Given the description of an element on the screen output the (x, y) to click on. 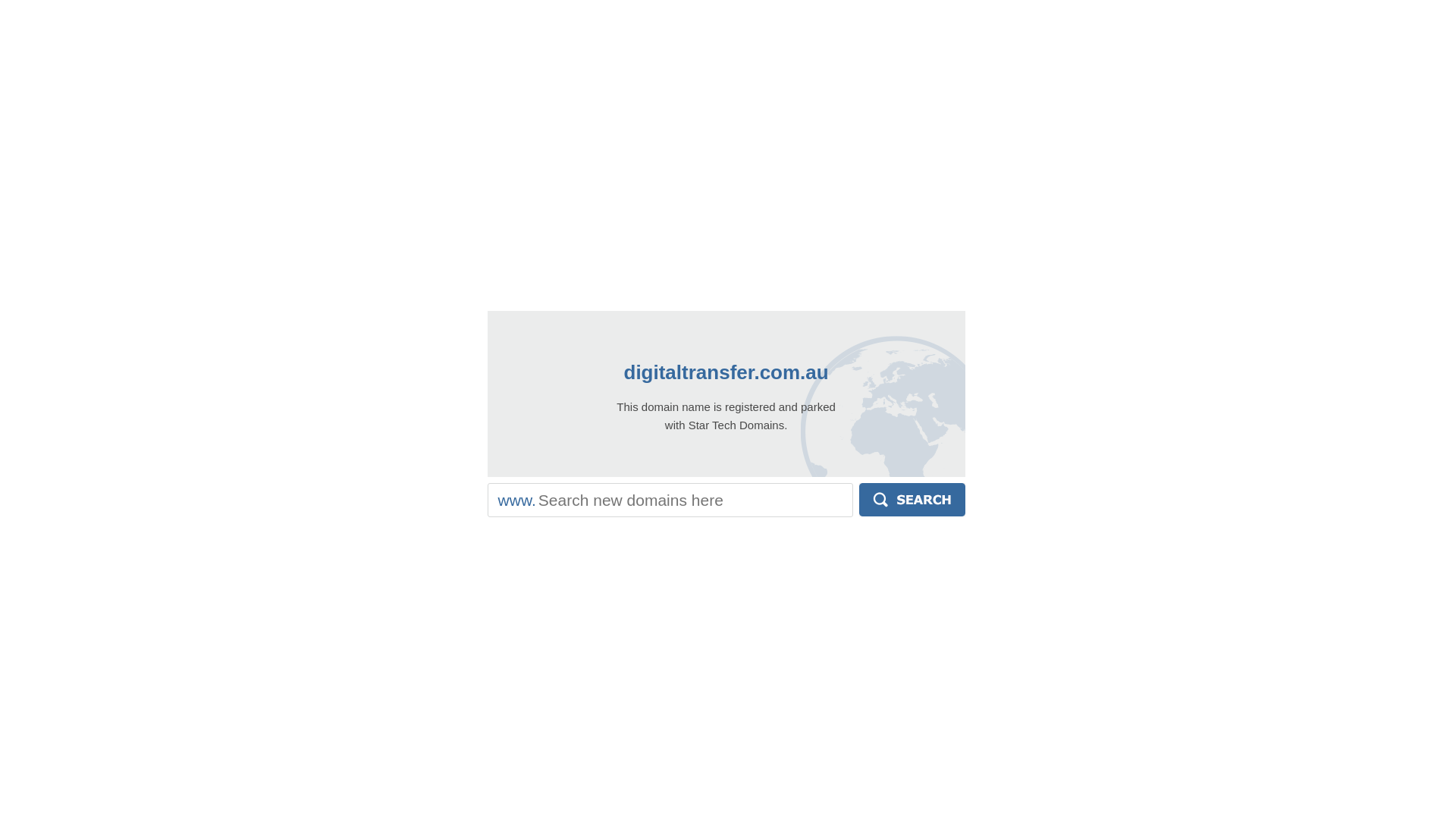
Search Element type: text (912, 499)
